Given the description of an element on the screen output the (x, y) to click on. 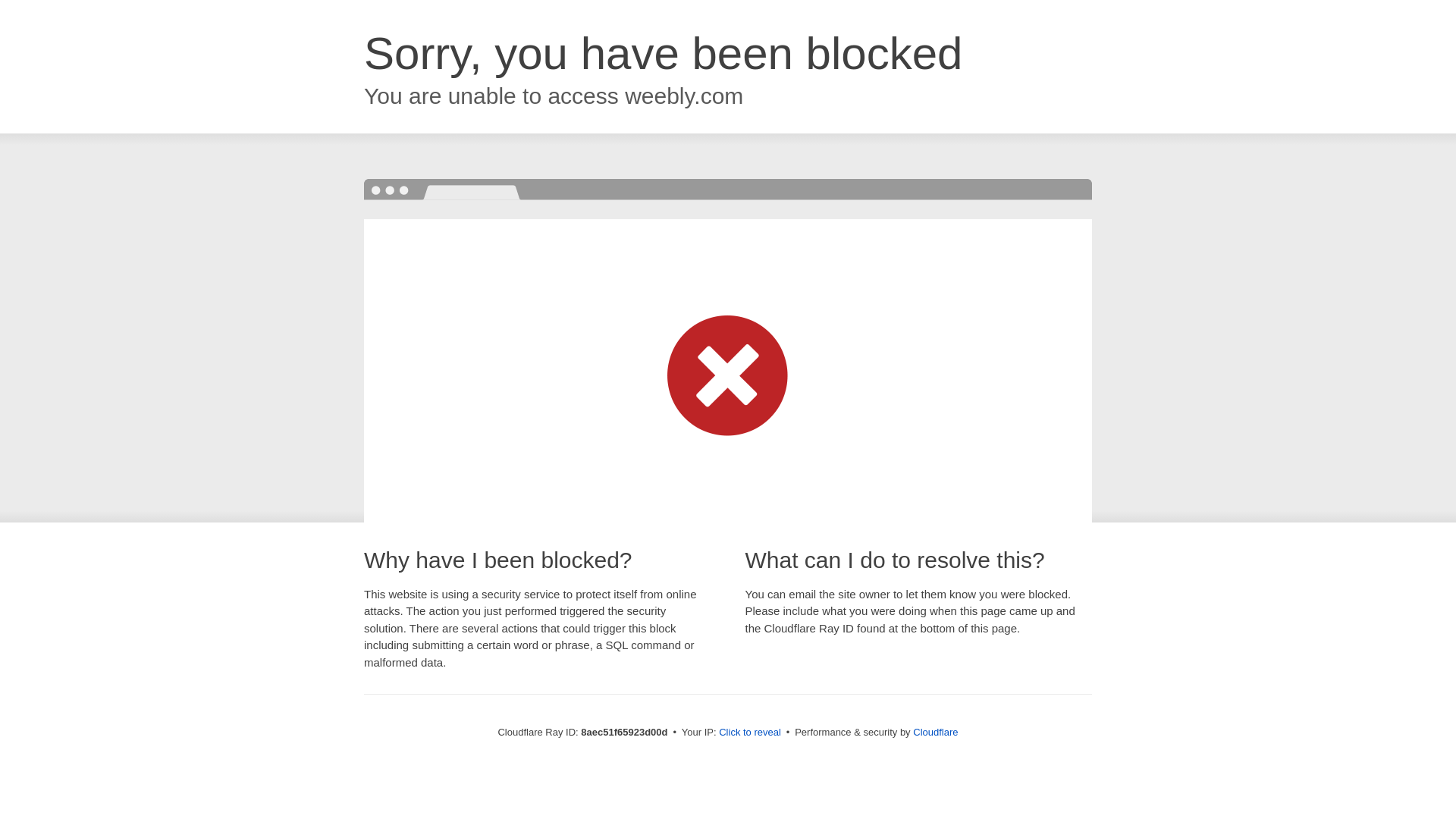
Cloudflare (935, 731)
Click to reveal (749, 732)
